Given the description of an element on the screen output the (x, y) to click on. 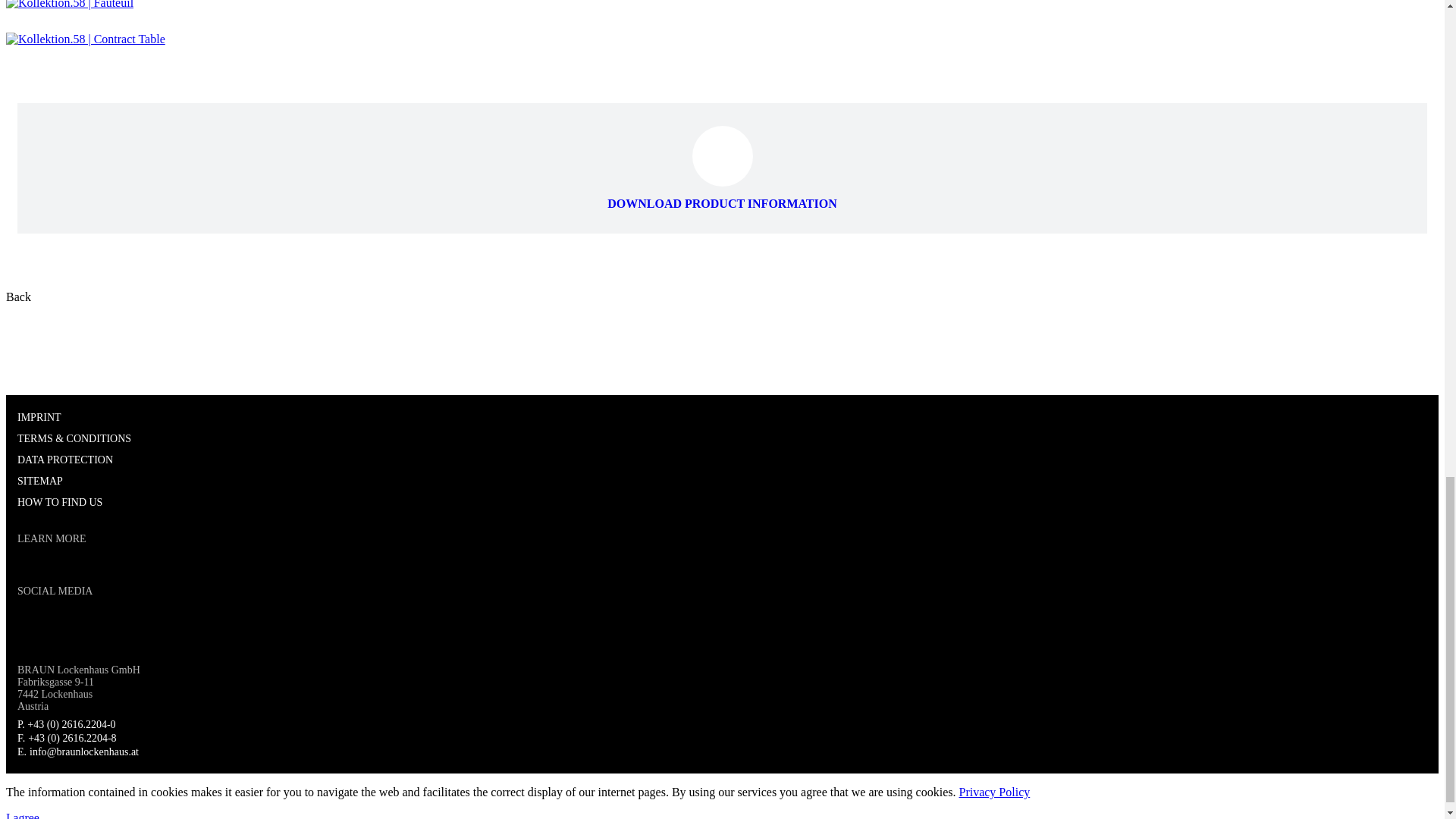
DATA PROTECTION (65, 460)
Back (17, 296)
SITEMAP (39, 480)
IMPRINT (39, 417)
DOWNLOAD PRODUCT INFORMATION (722, 196)
HOW TO FIND US (59, 501)
